Given the description of an element on the screen output the (x, y) to click on. 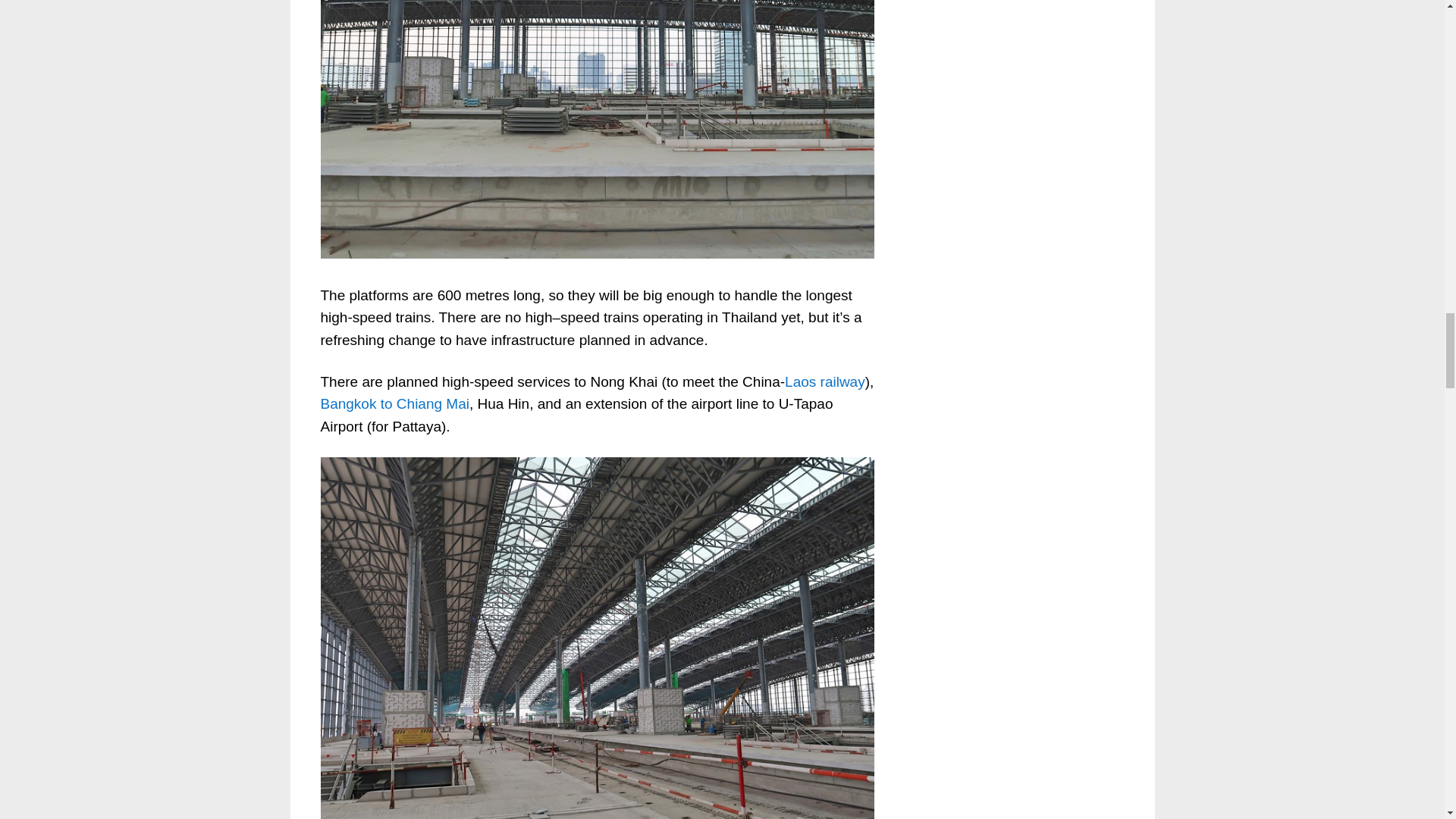
Laos railway (824, 381)
Bangkok to Chiang Mai (394, 403)
